Given the description of an element on the screen output the (x, y) to click on. 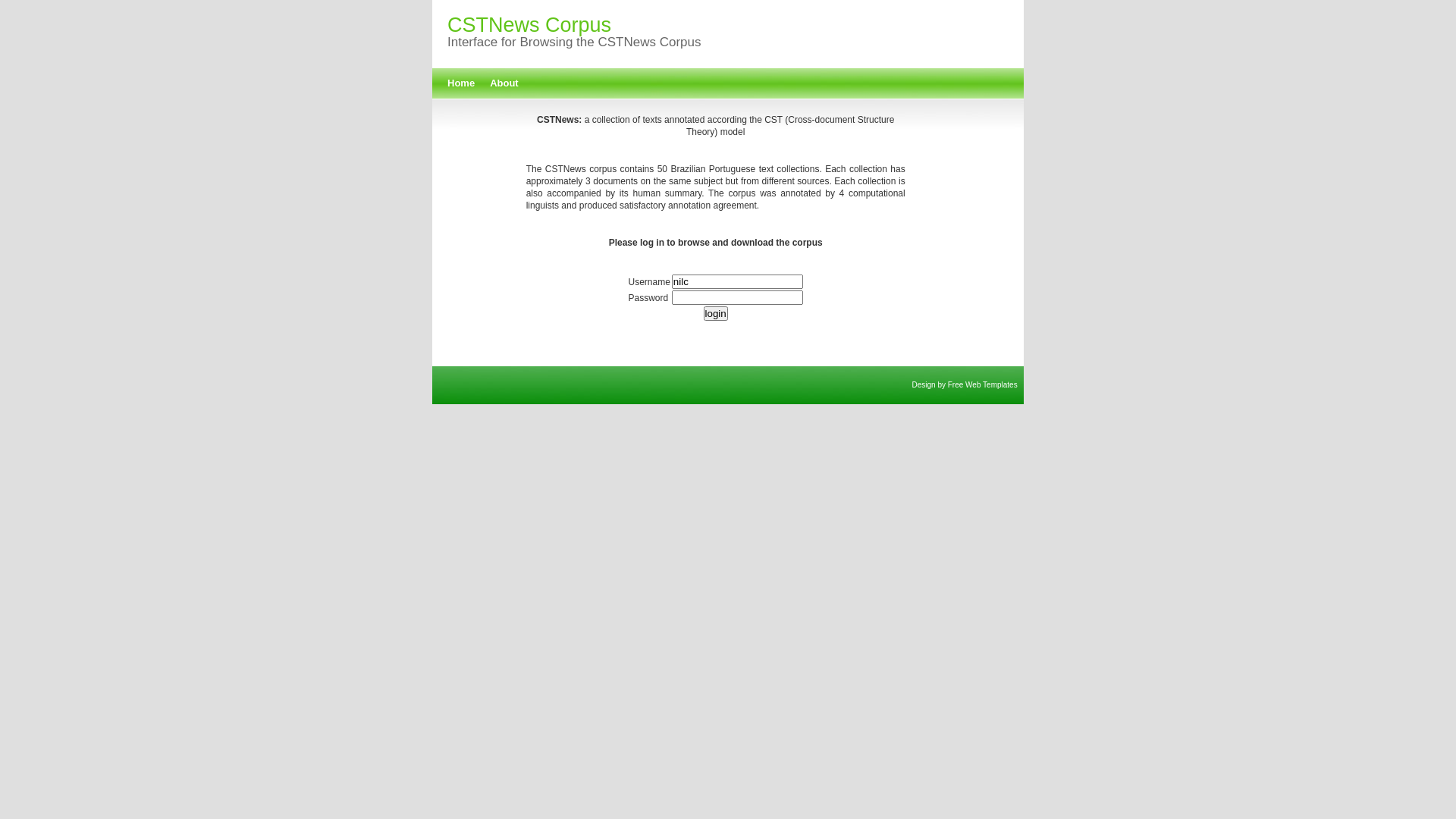
About Element type: text (504, 83)
login Element type: text (715, 313)
Free Web Templates    Element type: text (985, 384)
Home Element type: text (460, 83)
CSTNews Corpus Element type: text (529, 24)
